Given the description of an element on the screen output the (x, y) to click on. 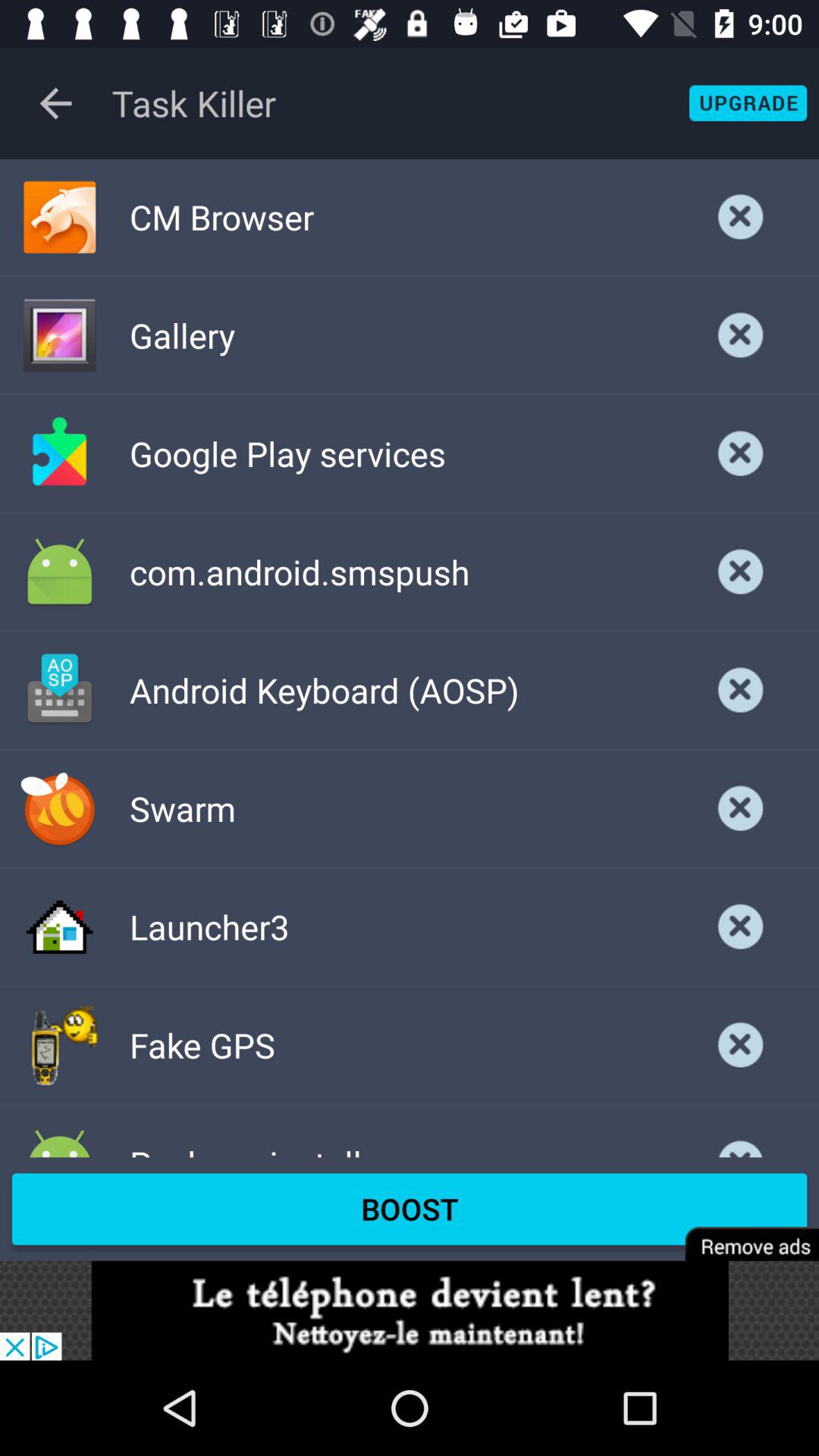
shutdown task (740, 335)
